Given the description of an element on the screen output the (x, y) to click on. 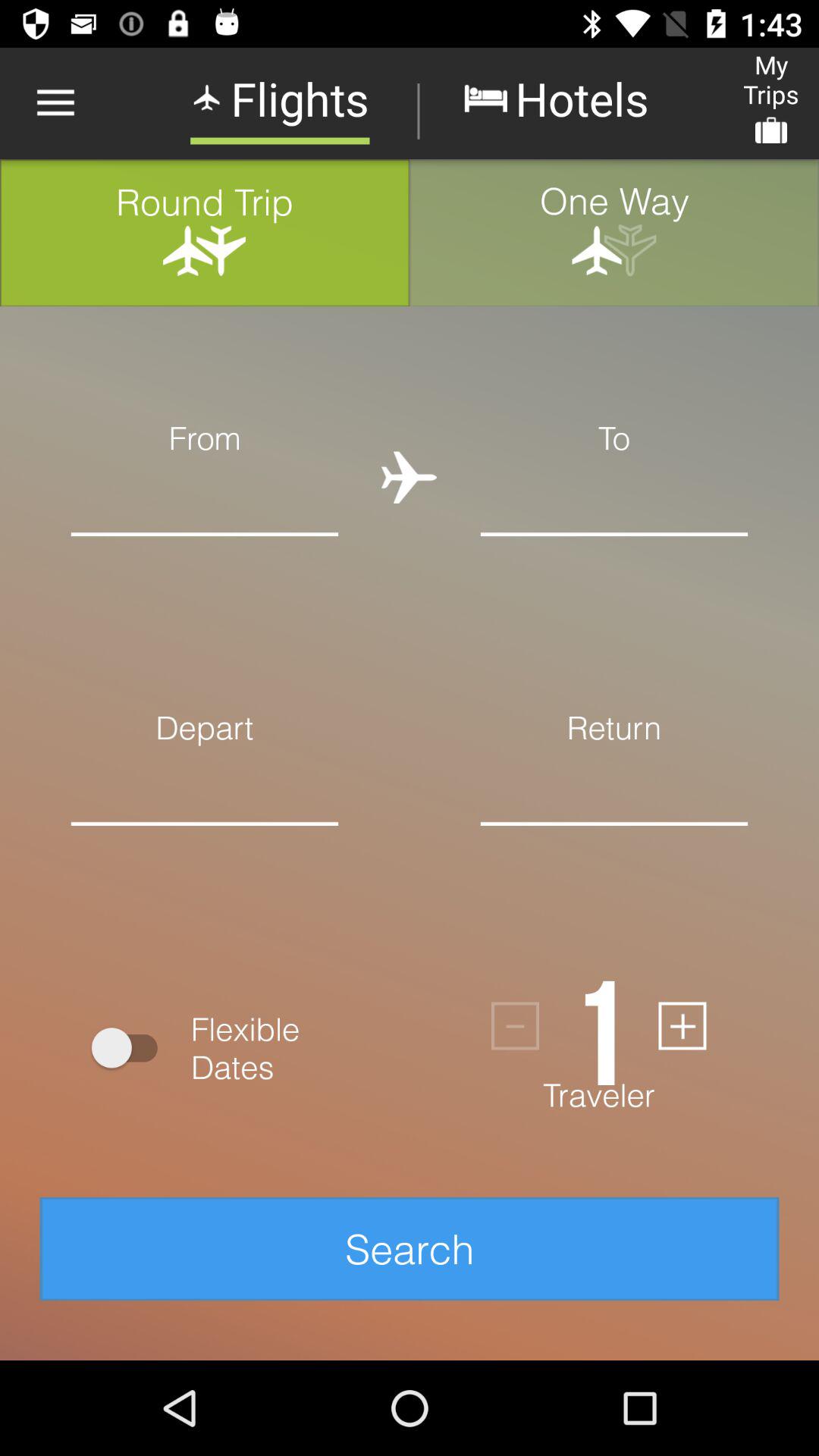
enter desired departure date (204, 847)
